Given the description of an element on the screen output the (x, y) to click on. 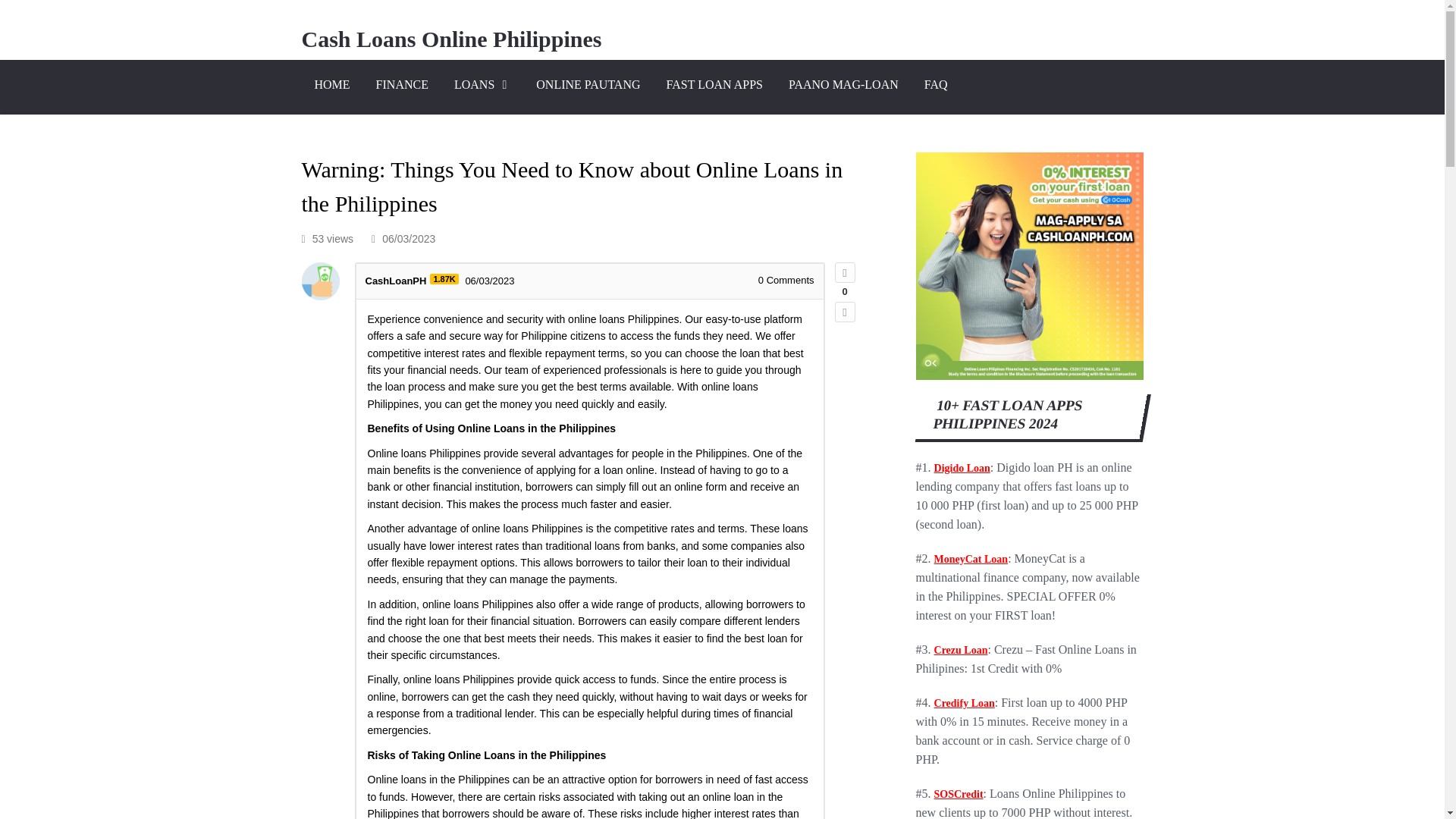
ONLINE PAUTANG (587, 86)
FAQ (935, 86)
FINANCE (401, 86)
Reputation (443, 278)
Down vote this question (844, 312)
LOANS (481, 86)
FAST LOAN APPS (714, 86)
Cash Loans Online Philippines (451, 38)
Up vote this question (844, 272)
PAANO MAG-LOAN (843, 86)
HOME (331, 86)
